Given the description of an element on the screen output the (x, y) to click on. 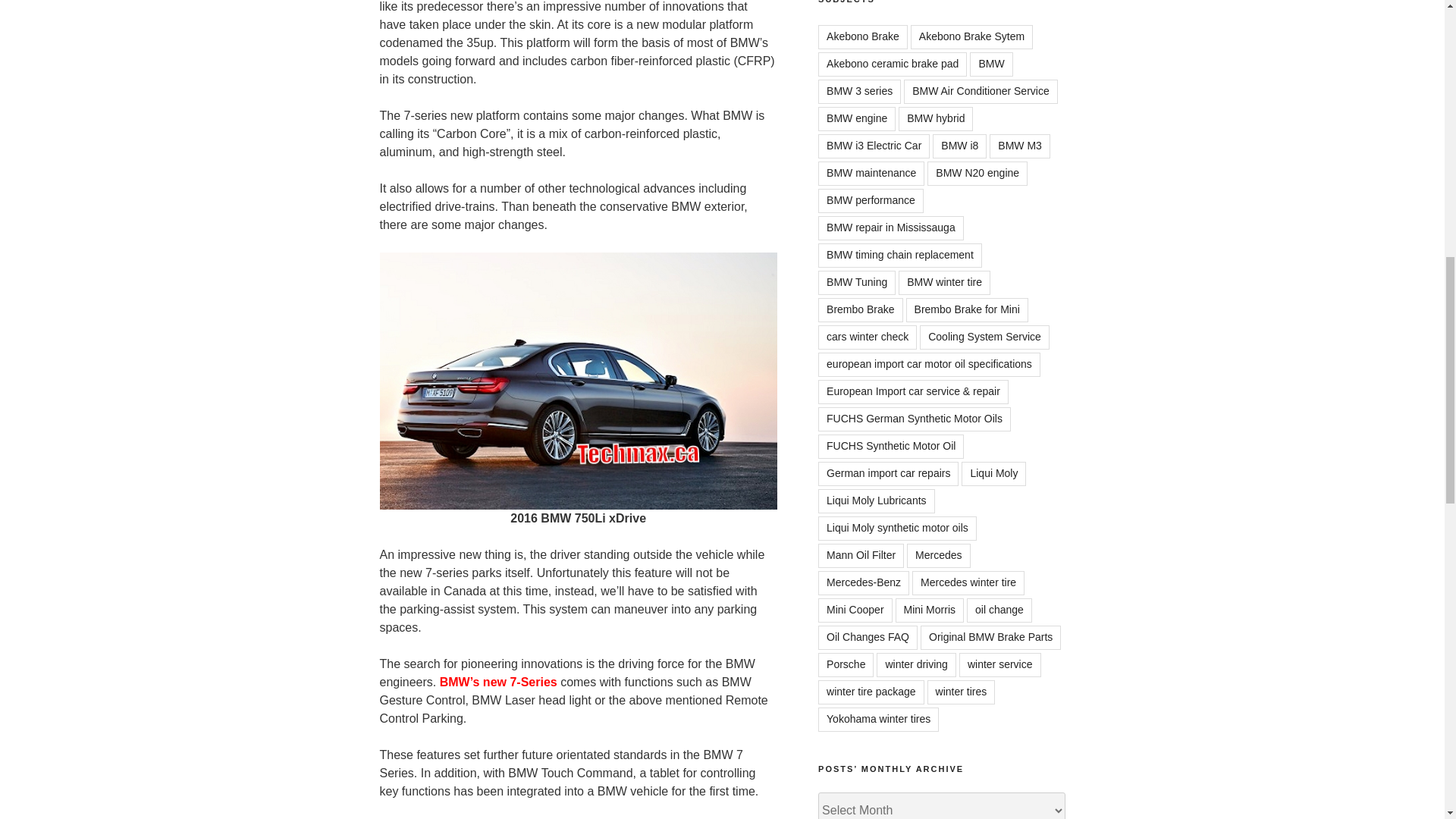
cars winter check (867, 337)
Akebono ceramic brake pad (892, 64)
BMW M3 (1019, 146)
Akebono Brake Sytem (971, 37)
BMW winter tire (944, 282)
BMW Air Conditioner Service (981, 91)
BMW timing chain replacement (899, 255)
BMW N20 engine (977, 173)
BMW performance (870, 200)
BMW 3 series (859, 91)
Akebono Brake (862, 37)
Brembo Brake (860, 310)
BMW engine (856, 119)
Brembo Brake for Mini (966, 310)
BMW repair in Mississauga (890, 228)
